Given the description of an element on the screen output the (x, y) to click on. 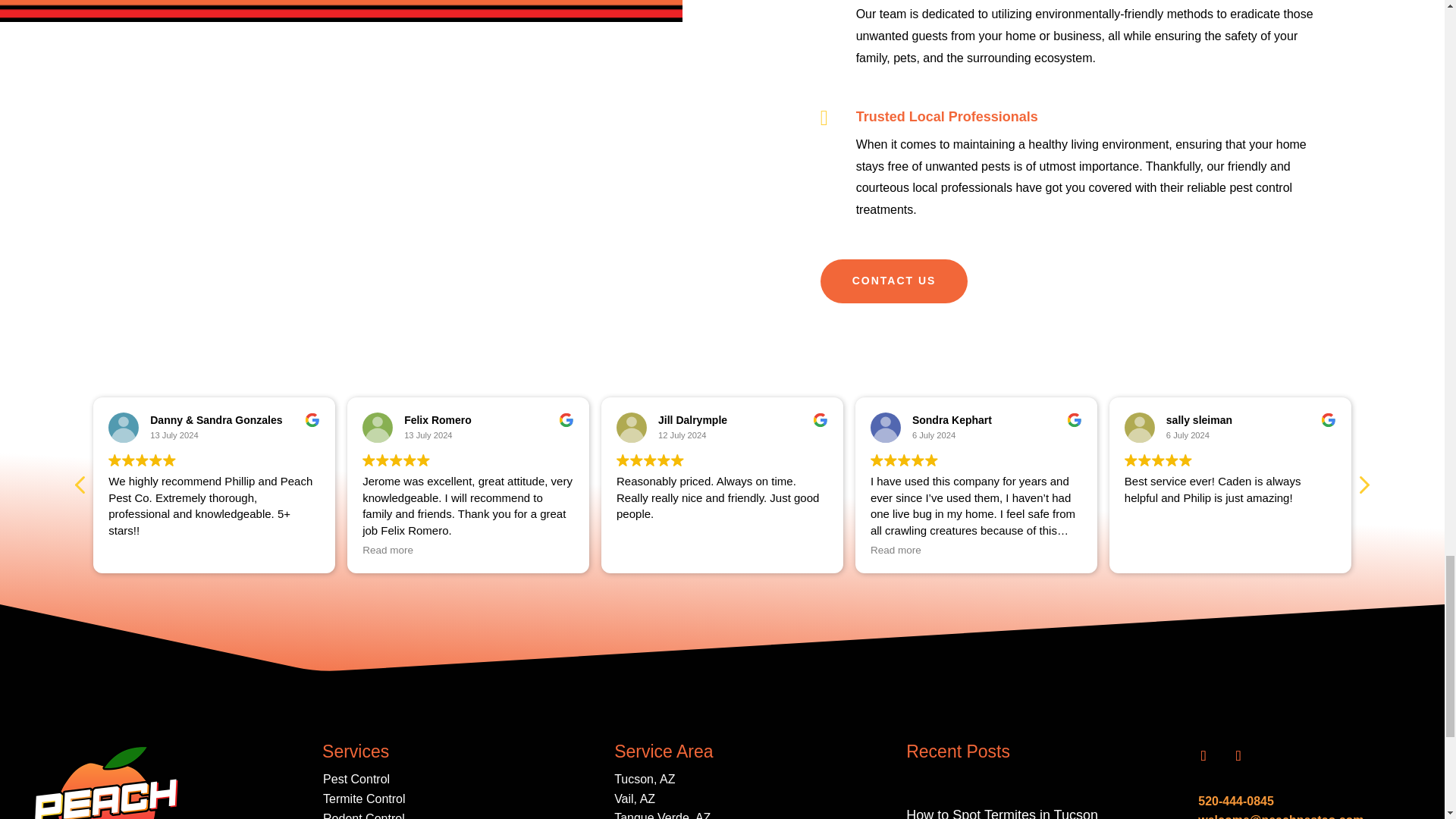
CONTACT US (894, 281)
Follow on Facebook (1203, 756)
Rodent Control (363, 815)
Follow on Instagram (1238, 756)
Pest Control (356, 779)
Termite Control (363, 798)
PeachPestCo2White-web (106, 780)
